Given the description of an element on the screen output the (x, y) to click on. 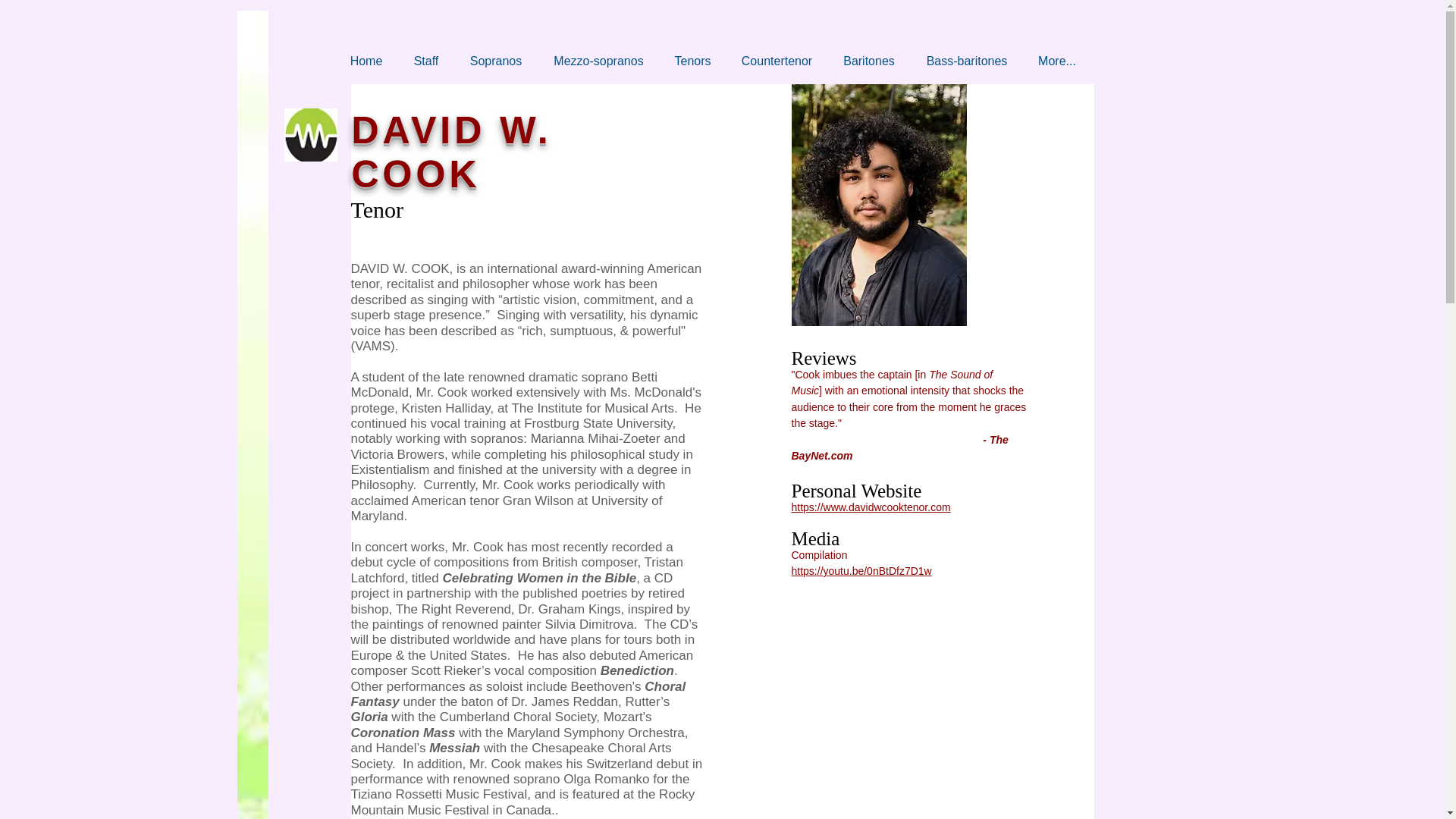
VAMLogo.jpg (309, 134)
Baritones (869, 60)
Home (365, 60)
